Given the description of an element on the screen output the (x, y) to click on. 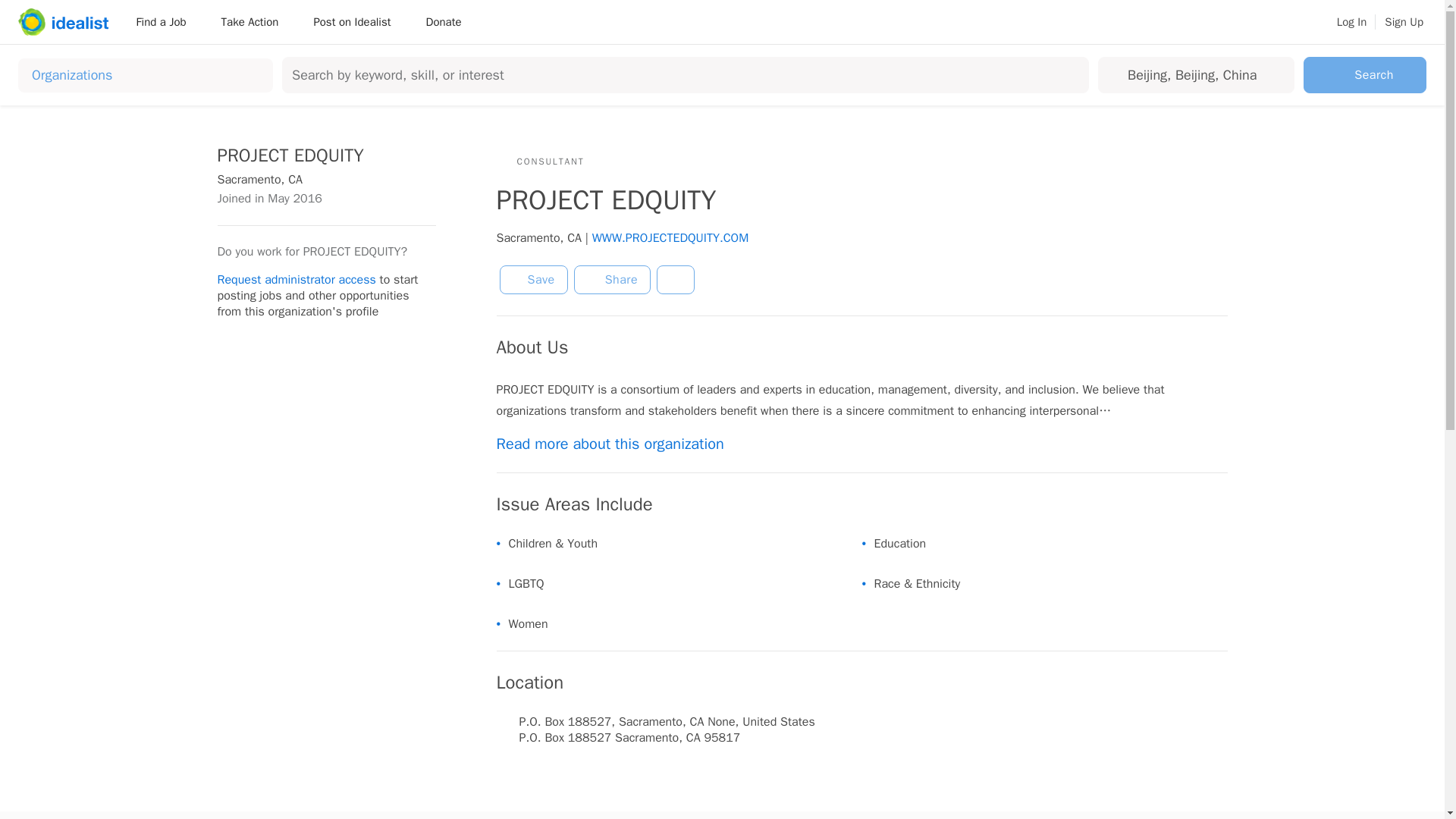
Post on Idealist (357, 21)
WWW.PROJECTEDQUITY.COM (670, 237)
Sign Up (1403, 22)
Location (1193, 74)
Log In (1351, 22)
Beijing, Beijing, China (1193, 74)
Save (533, 279)
Save (533, 279)
Search (1364, 74)
Request administrator access (295, 279)
Find a Job (165, 21)
Take Action (255, 21)
Donate (443, 21)
